Given the description of an element on the screen output the (x, y) to click on. 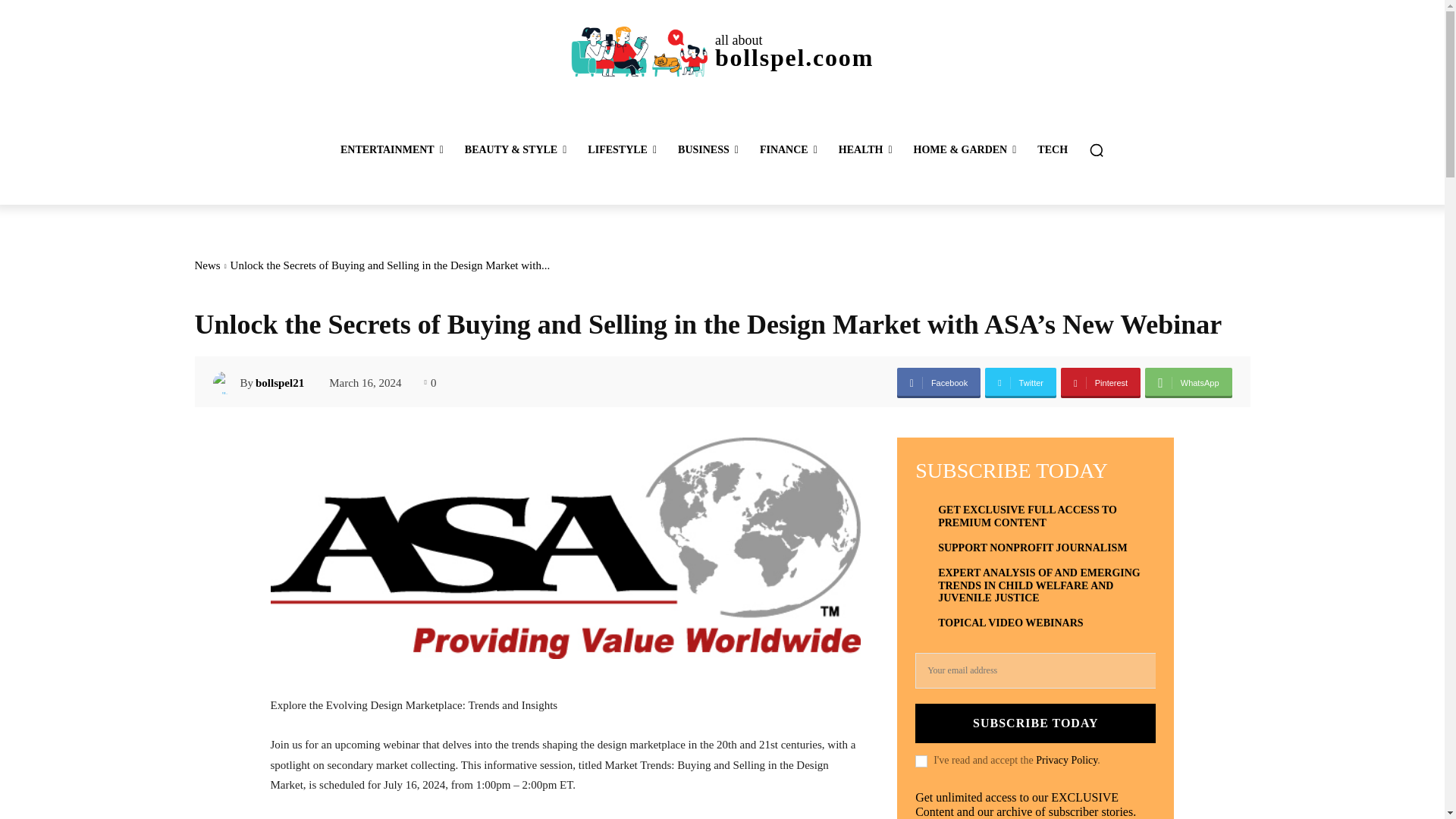
Facebook (937, 382)
Pinterest (1100, 382)
bollspel21 (226, 382)
View all posts in News (206, 265)
Twitter (1021, 382)
